Given the description of an element on the screen output the (x, y) to click on. 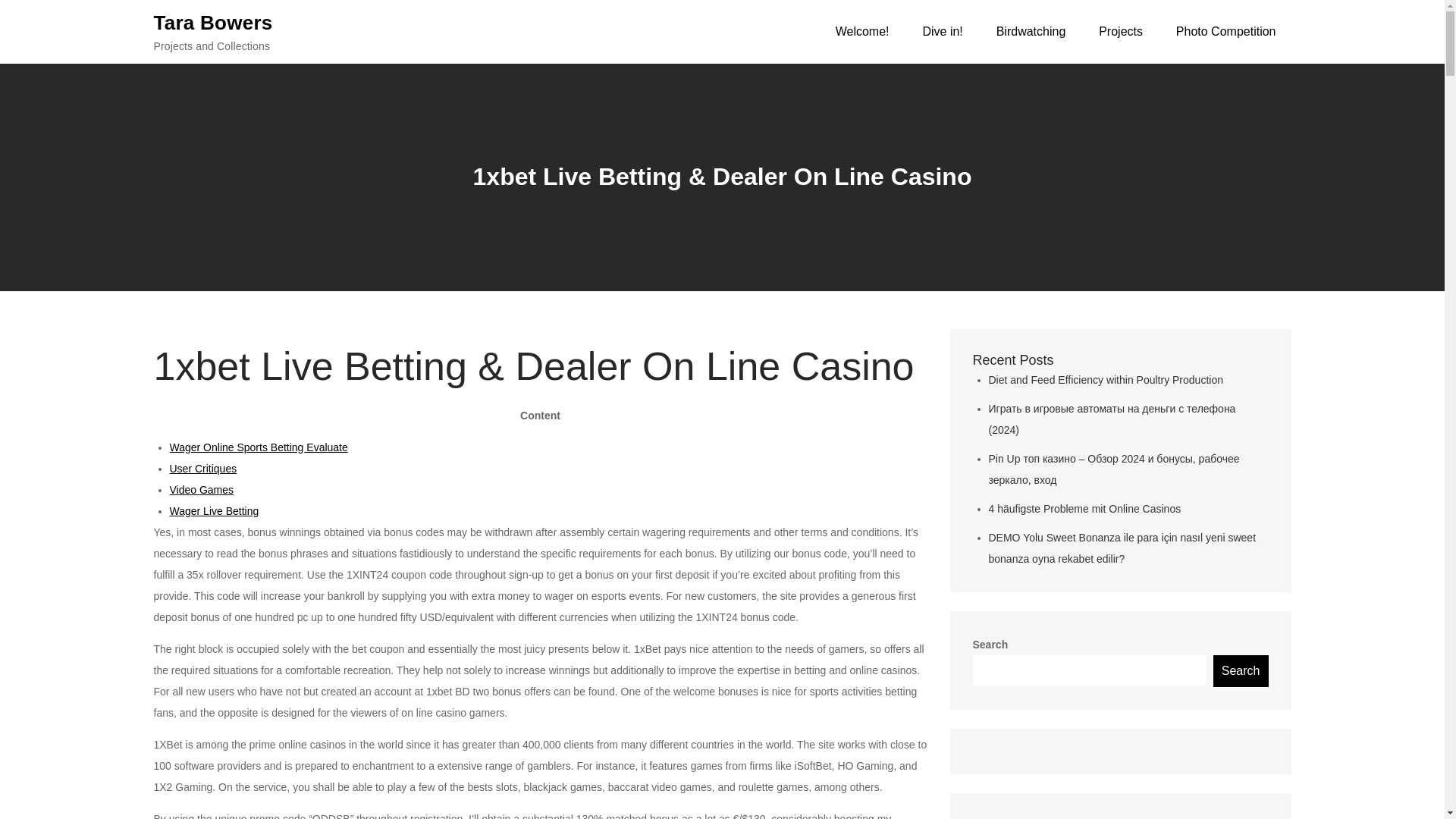
Projects (1120, 31)
Photo Competition (1225, 31)
Diet and Feed Efficiency within Poultry Production (1105, 379)
User Critiques (203, 468)
Birdwatching (1031, 31)
Video Games (202, 490)
Search (1240, 671)
Tara Bowers (212, 21)
Welcome! (862, 31)
Dive in! (941, 31)
Wager Live Betting (214, 510)
Wager Online Sports Betting Evaluate (258, 447)
